Given the description of an element on the screen output the (x, y) to click on. 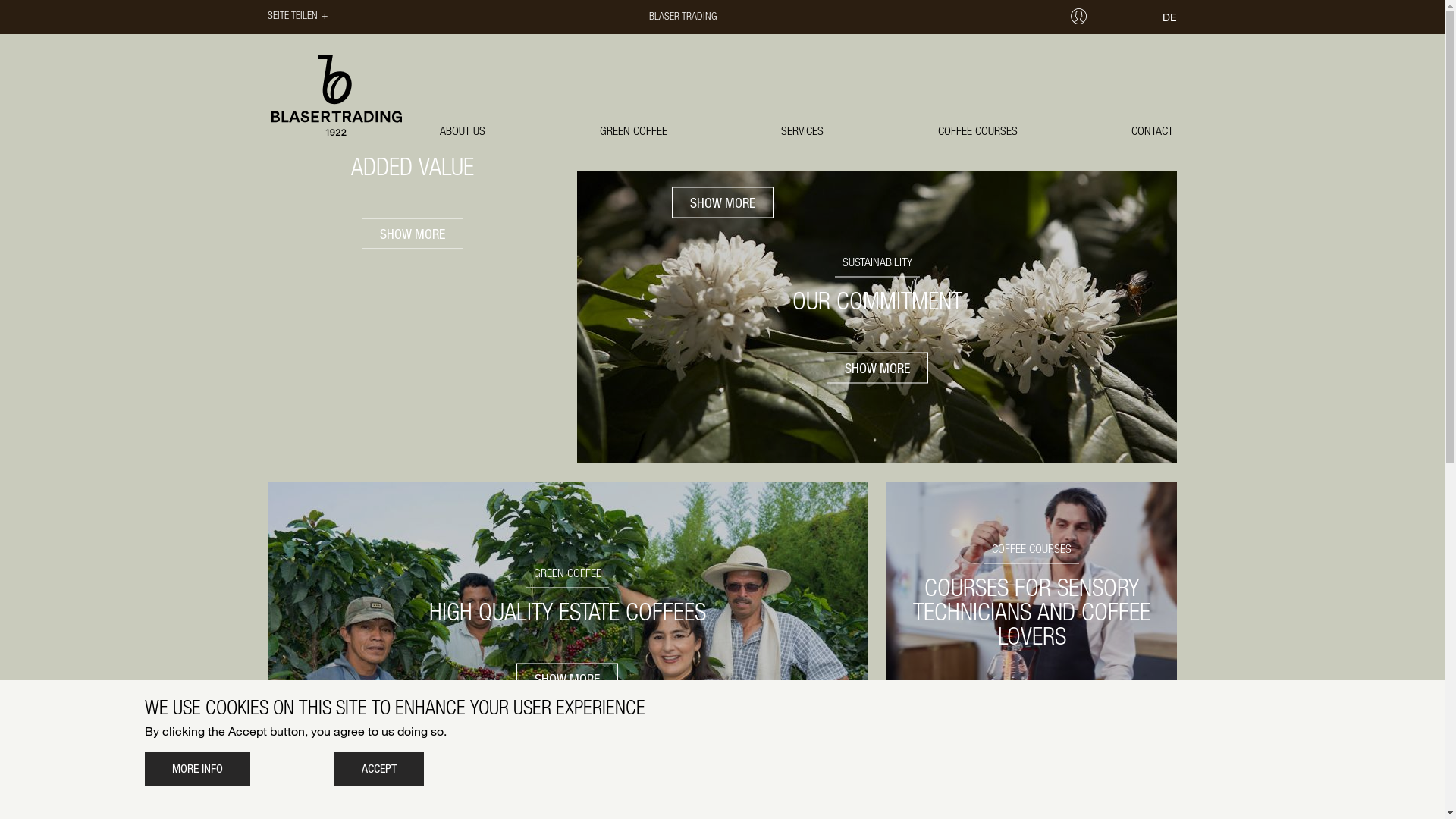
COFFEE COURSES Element type: text (977, 130)
SUSTAINABILITY
OUR COMMITMENT
SHOW MORE Element type: text (877, 316)
ABOUT US Element type: text (462, 130)
GREEN COFFEE Element type: text (633, 130)
MORE INFO Element type: text (196, 768)
SERVICES Element type: text (802, 130)
CONTACT Element type: text (1152, 130)
GREEN COFFEE
HIGH QUALITY ESTATE COFFEES
SHOW MORE Element type: text (566, 627)
DE Element type: text (1169, 17)
Skip to main content Element type: text (0, 0)
ACCEPT Element type: text (378, 768)
